Given the description of an element on the screen output the (x, y) to click on. 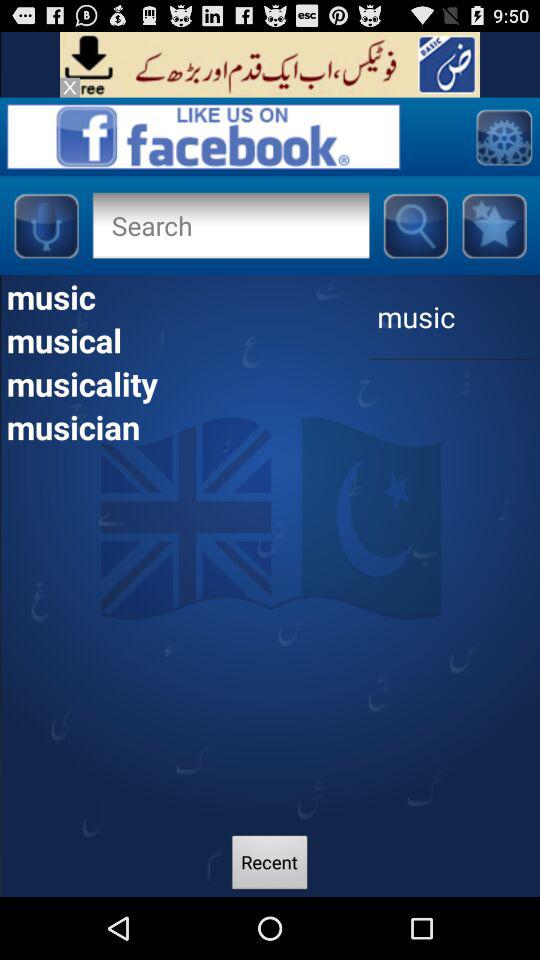
go to search option (230, 225)
